Given the description of an element on the screen output the (x, y) to click on. 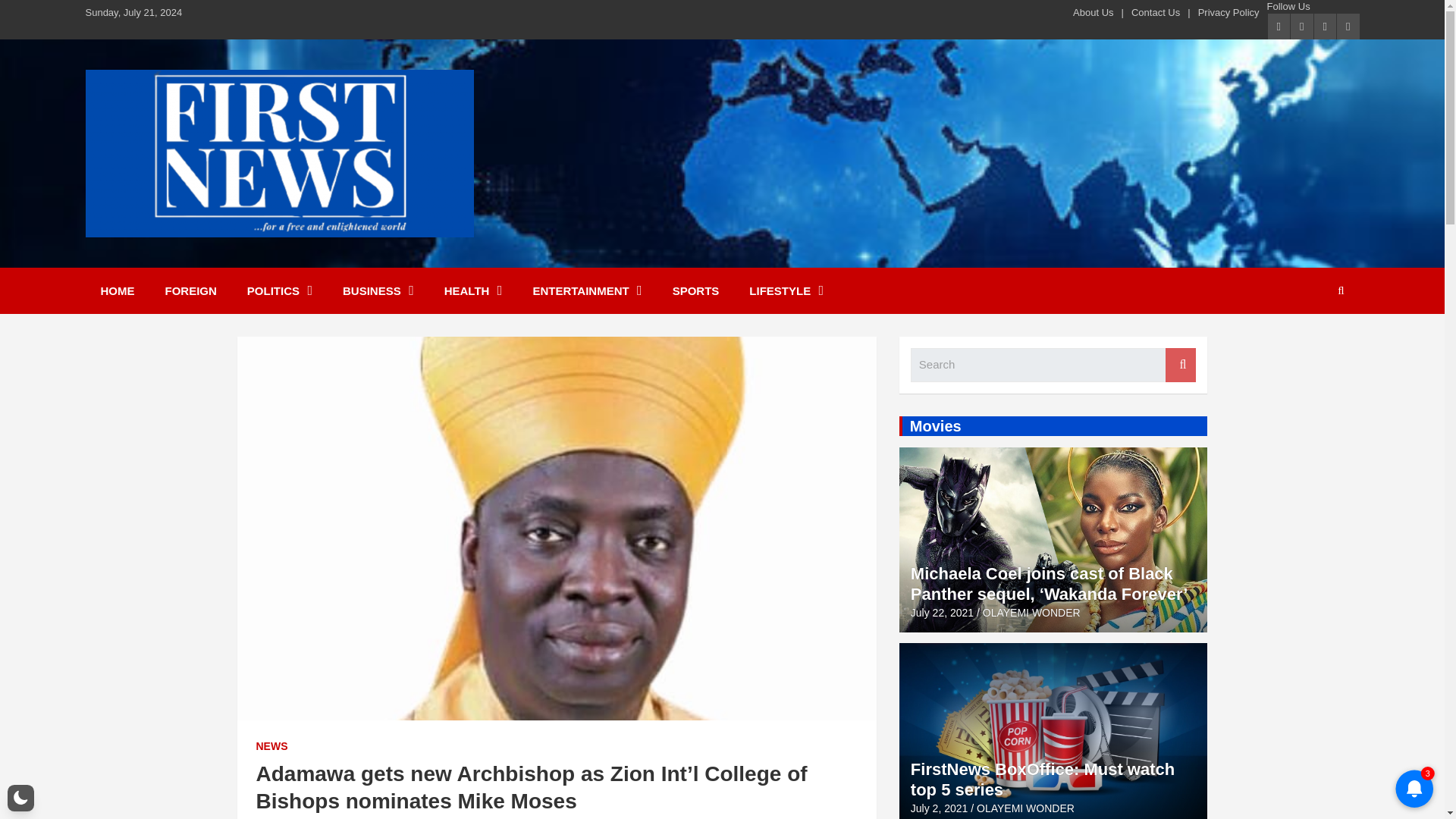
About Us (1093, 12)
SPORTS (696, 290)
HOME (116, 290)
HEALTH (473, 290)
ENTERTAINMENT (586, 290)
LIFESTYLE (785, 290)
Privacy Policy (1228, 12)
NEWS (272, 746)
Contact Us (1155, 12)
FOREIGN (190, 290)
POLITICS (279, 290)
BUSINESS (378, 290)
First News NG (188, 256)
FirstNews BoxOffice: Must watch top 5 series (939, 808)
